Given the description of an element on the screen output the (x, y) to click on. 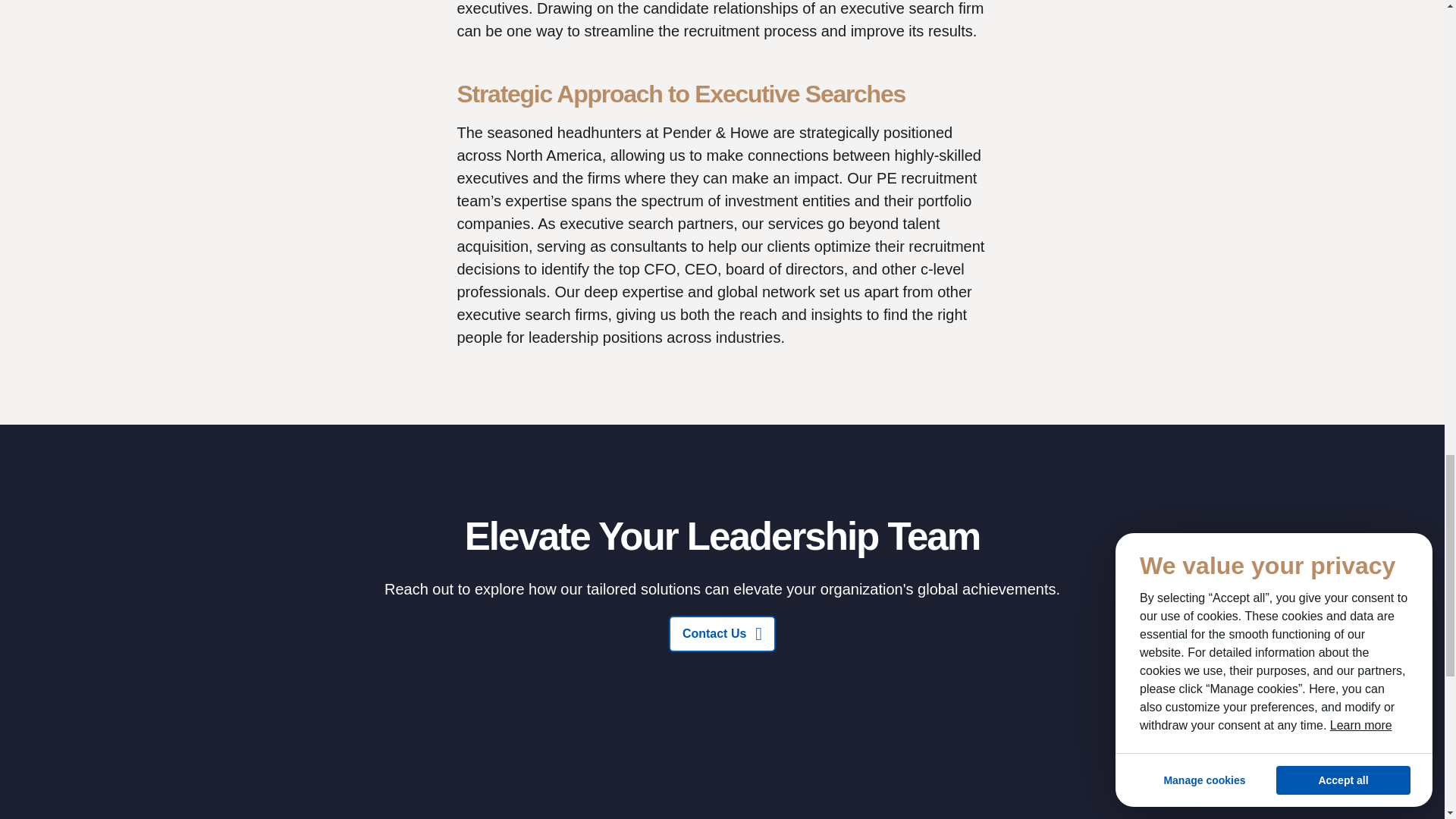
Contact Us (722, 633)
